Given the description of an element on the screen output the (x, y) to click on. 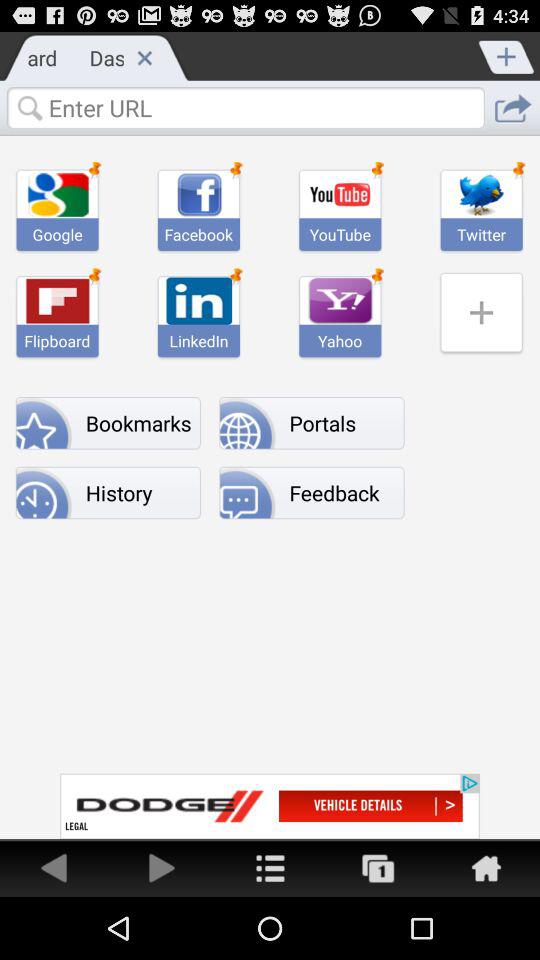
view open tabs (378, 867)
